Given the description of an element on the screen output the (x, y) to click on. 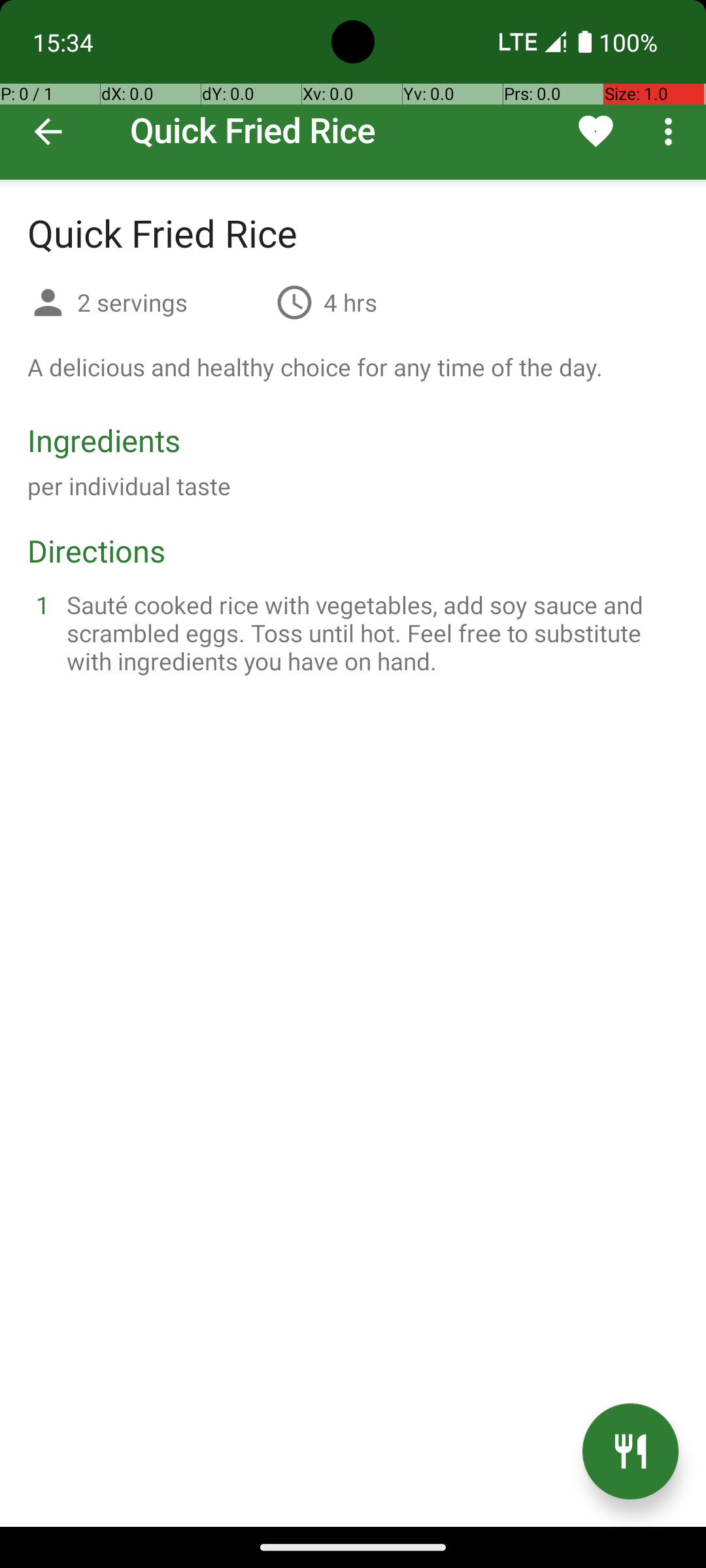
Sauté cooked rice with vegetables, add soy sauce and scrambled eggs. Toss until hot. Feel free to substitute with ingredients you have on hand. Element type: android.widget.TextView (368, 632)
